Given the description of an element on the screen output the (x, y) to click on. 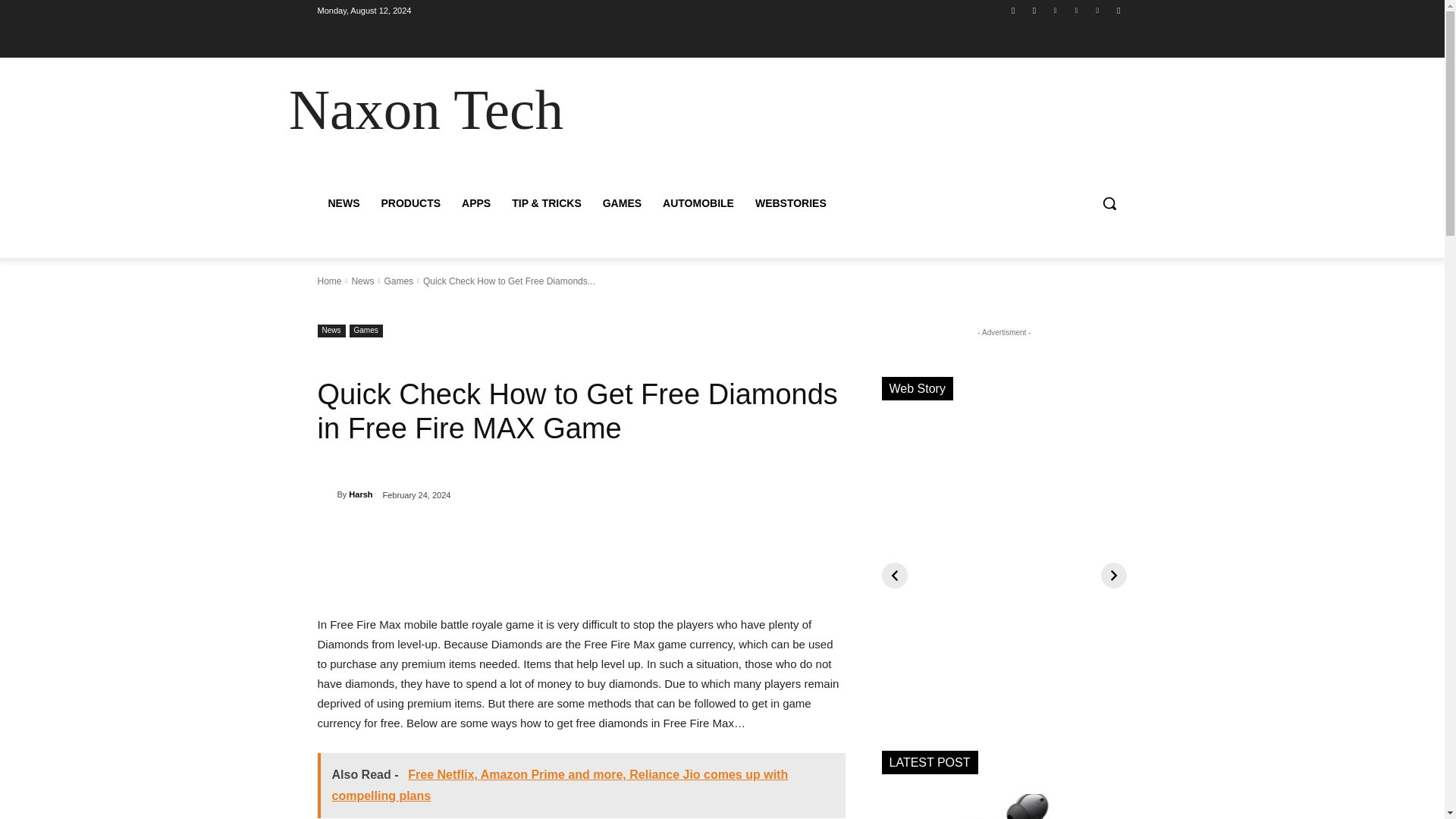
Youtube (1117, 9)
WEBSTORIES (790, 203)
Linkedin (1055, 9)
GAMES (622, 203)
News (362, 281)
PRODUCTS (410, 203)
News (331, 330)
APPS (475, 203)
Facebook (1013, 9)
NEWS (343, 203)
